Given the description of an element on the screen output the (x, y) to click on. 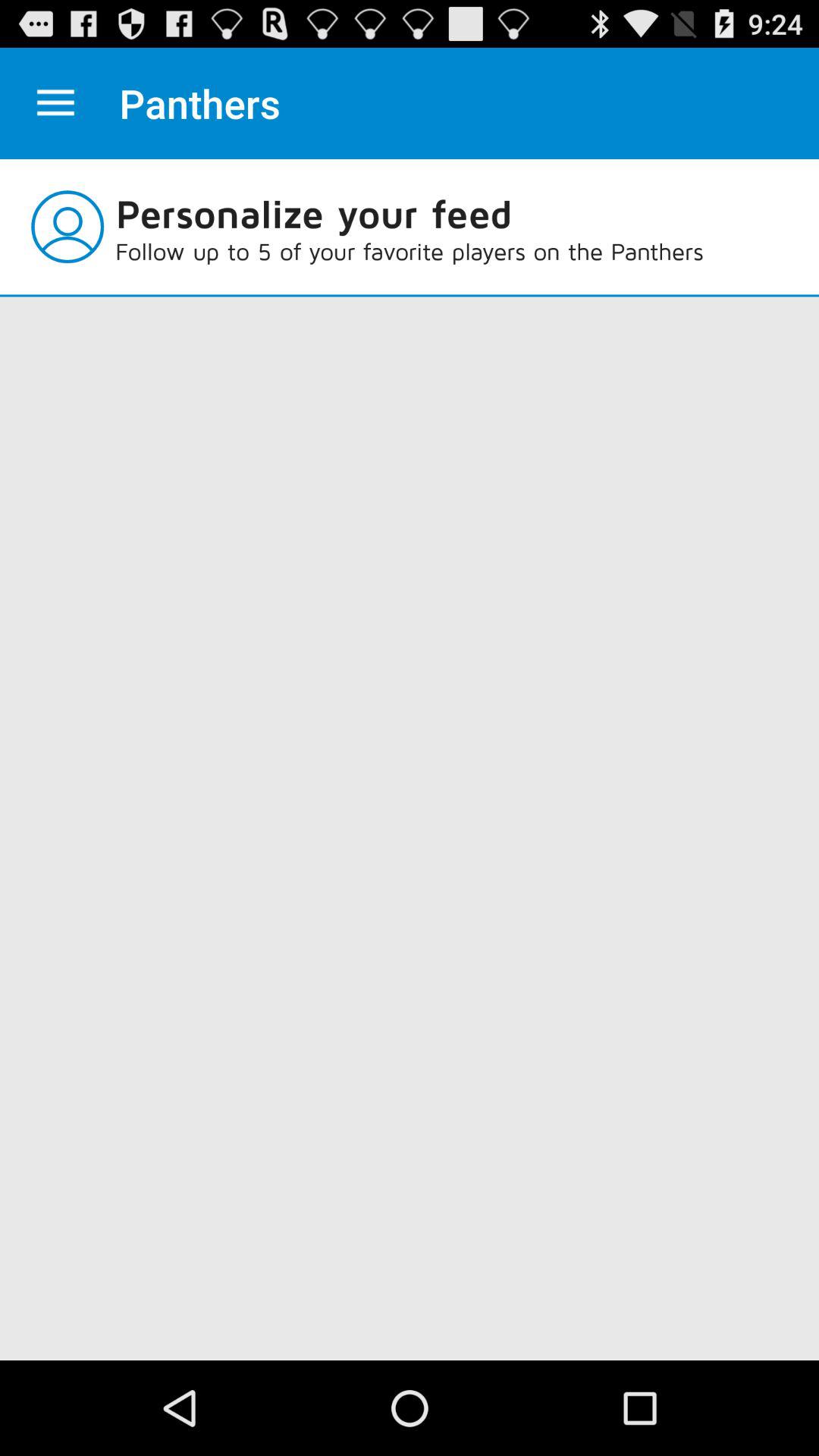
turn off the icon to the left of panthers (55, 103)
